Given the description of an element on the screen output the (x, y) to click on. 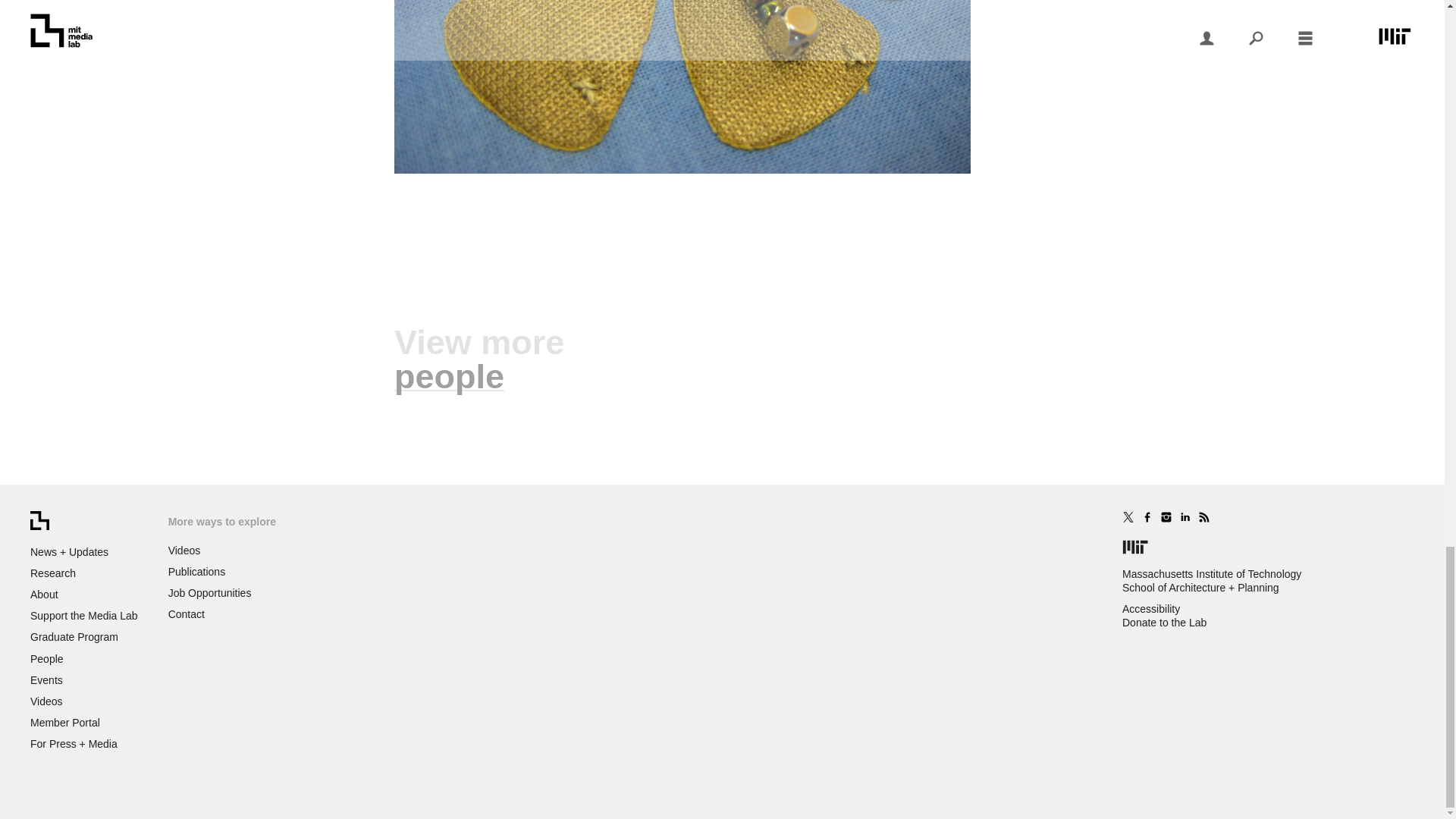
Research (52, 573)
Events (46, 680)
Support the Media Lab (84, 615)
About (44, 594)
People (47, 657)
people (448, 376)
Graduate Program (73, 636)
Videos (46, 701)
